Given the description of an element on the screen output the (x, y) to click on. 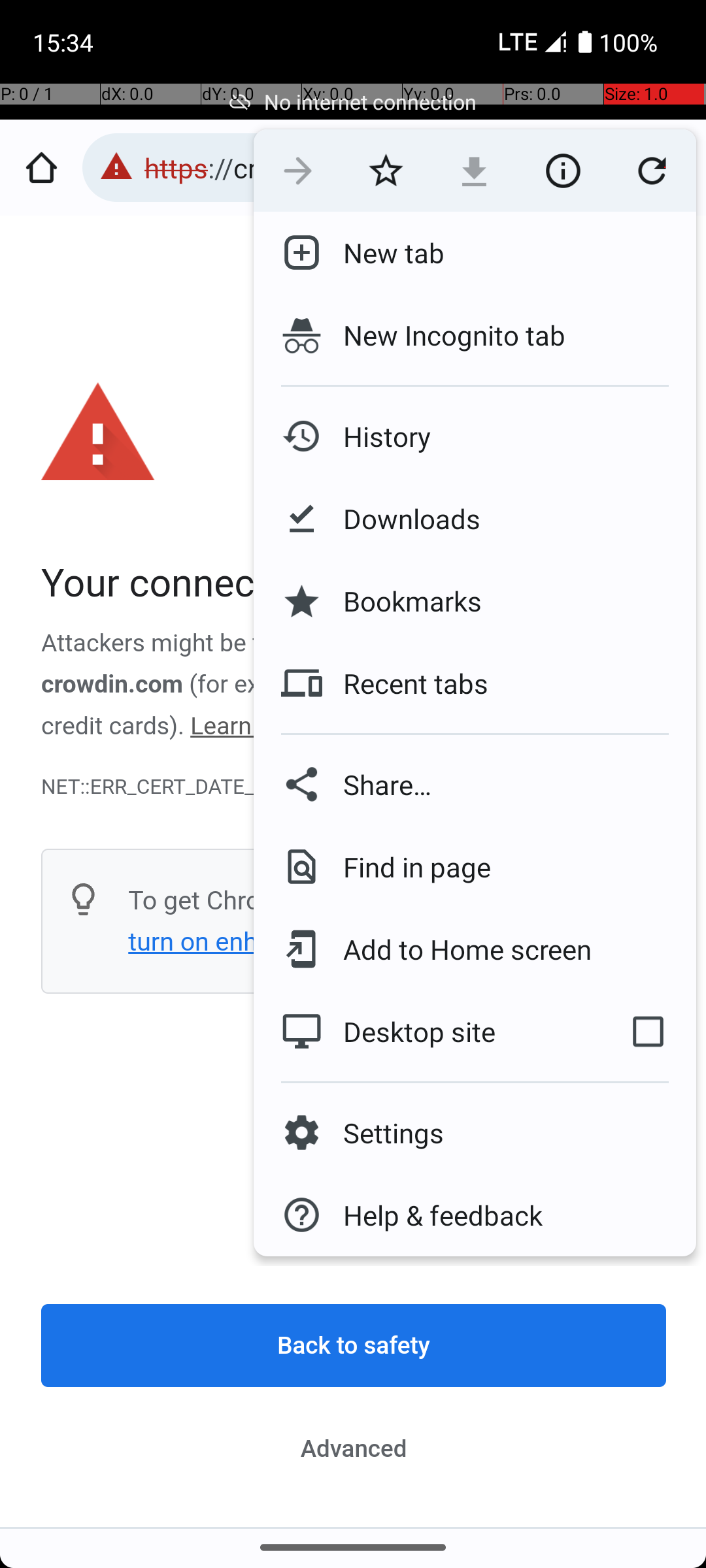
Forward Element type: android.widget.ImageButton (297, 170)
Bookmark Element type: android.widget.ImageButton (385, 170)
Page info Element type: android.widget.ImageButton (562, 170)
Refresh Element type: android.widget.ImageButton (651, 170)
New tab Element type: android.widget.TextView (383, 252)
New Incognito tab Element type: android.widget.TextView (474, 335)
Bookmarks Element type: android.widget.TextView (401, 600)
Recent tabs Element type: android.widget.TextView (405, 683)
Share… Element type: android.widget.TextView (474, 784)
Find in page Element type: android.widget.TextView (406, 866)
Add to Home screen Element type: android.widget.TextView (457, 949)
Desktop site Element type: android.widget.TextView (426, 1031)
